Given the description of an element on the screen output the (x, y) to click on. 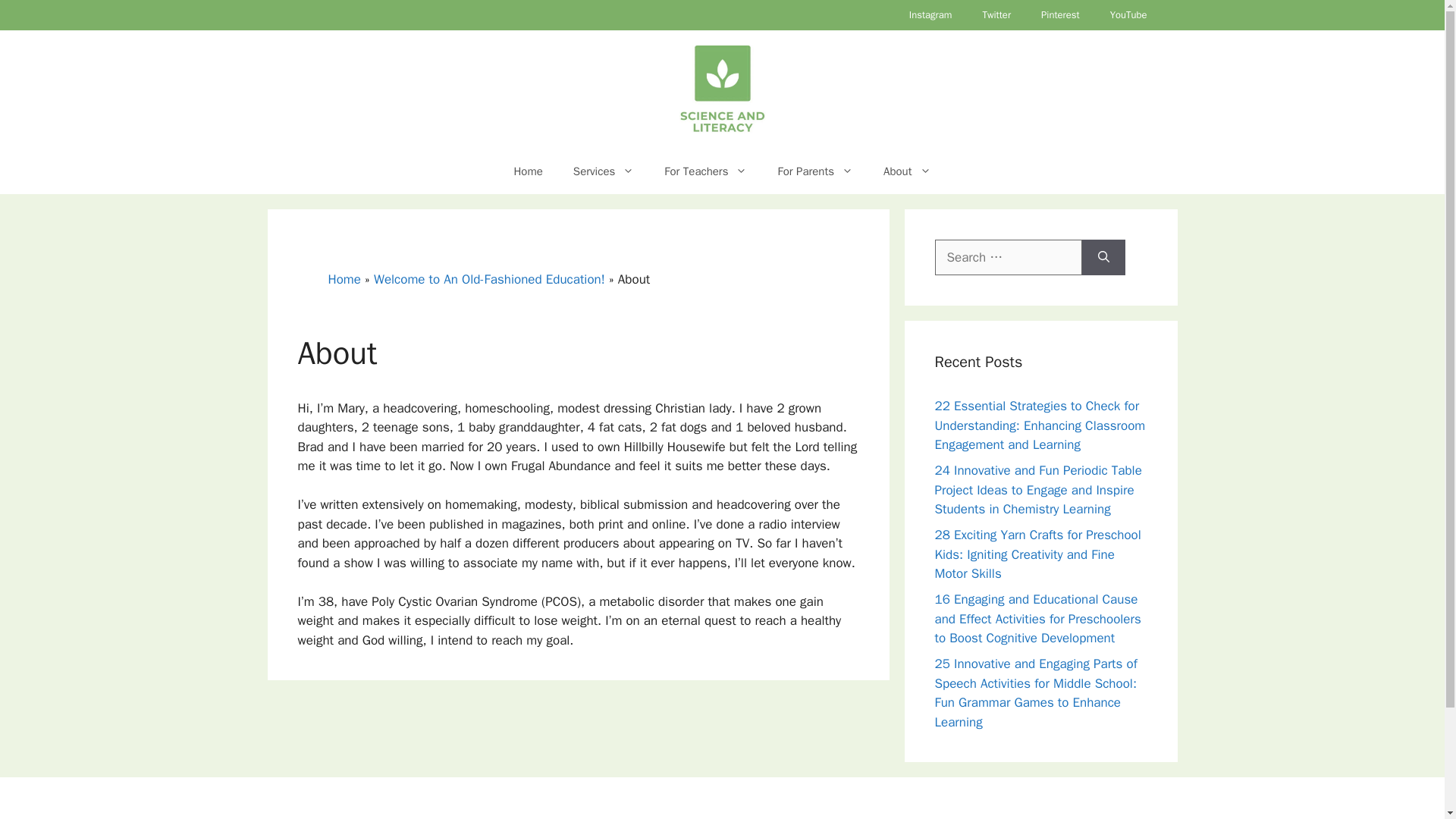
YouTube (1127, 15)
Services (603, 171)
Twitter (996, 15)
Home (527, 171)
Search for: (1007, 257)
Pinterest (1060, 15)
Instagram (930, 15)
